Given the description of an element on the screen output the (x, y) to click on. 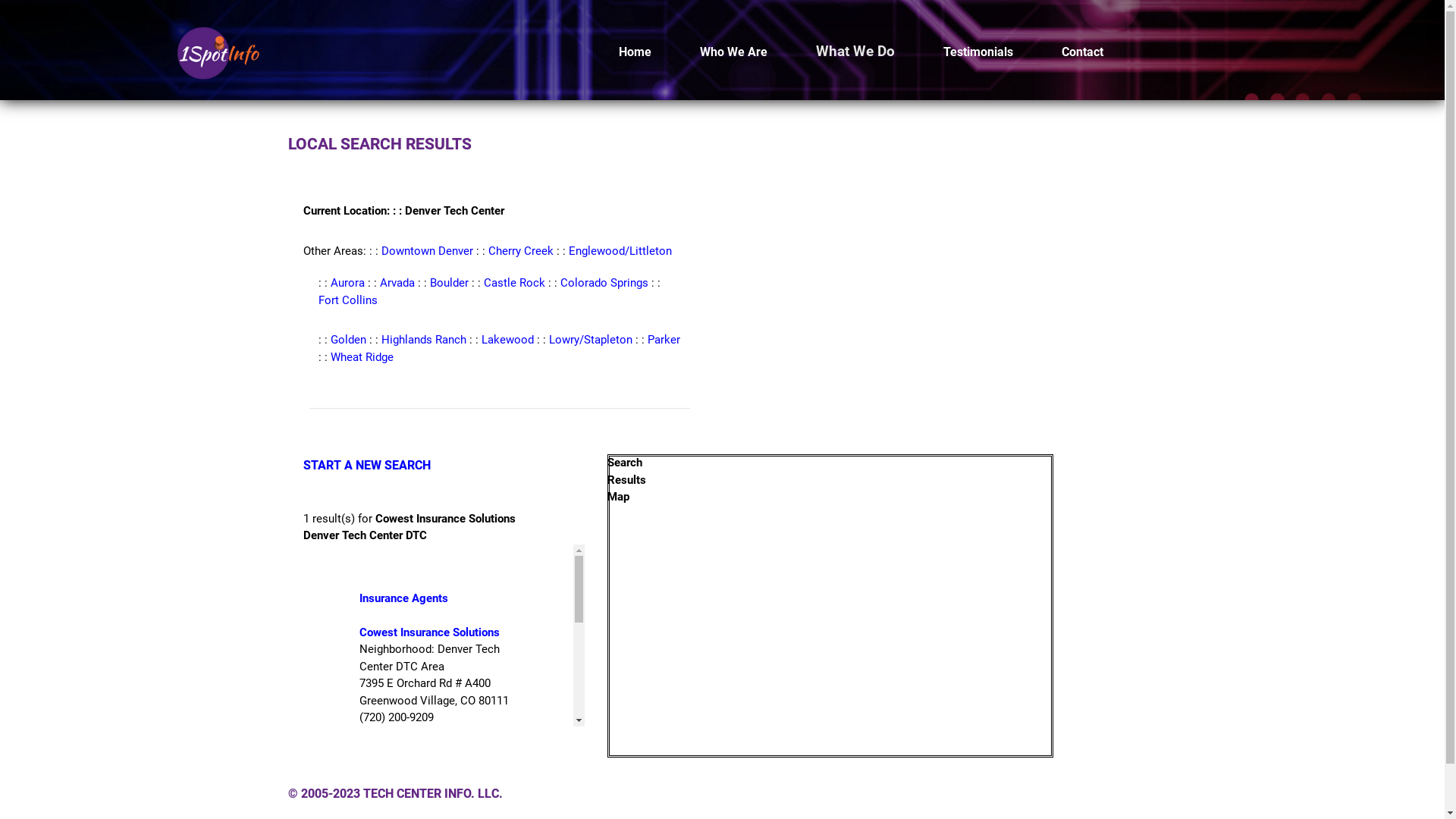
Boulder Element type: text (448, 282)
Arvada Element type: text (396, 282)
Lowry/Stapleton Element type: text (590, 339)
Colorado Springs Element type: text (604, 282)
Insurance Agents Element type: text (403, 598)
Home Element type: text (634, 52)
Highlands Ranch Element type: text (423, 339)
Fort Collins Element type: text (347, 300)
Golden Element type: text (348, 339)
Aurora Element type: text (347, 282)
Cherry Creek Element type: text (520, 250)
Wheat Ridge Element type: text (361, 357)
Contact Element type: text (1082, 52)
Who We Are Element type: text (732, 52)
START A NEW SEARCH Element type: text (366, 465)
Lakewood Element type: text (507, 339)
Directions Element type: text (479, 751)
Cowest Insurance Solutions Element type: text (429, 632)
Zoom to on Map Element type: text (401, 751)
Testimonials Element type: text (978, 52)
Castle Rock Element type: text (514, 282)
Englewood/Littleton Element type: text (619, 250)
Parker Element type: text (663, 339)
Downtown Denver Element type: text (427, 250)
What We Do Element type: text (854, 51)
